Given the description of an element on the screen output the (x, y) to click on. 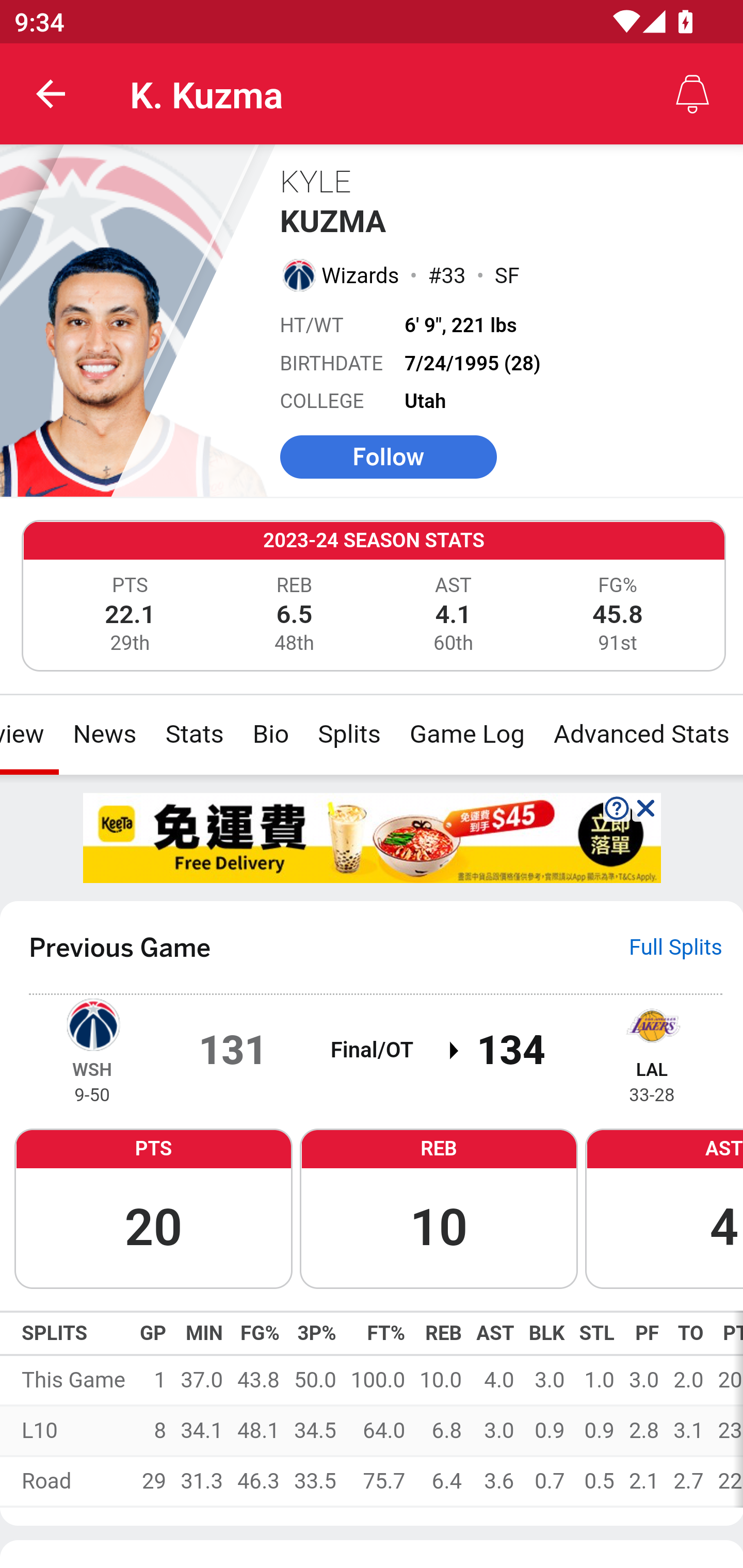
back.button (50, 93)
Alerts (692, 93)
Washington Wizards (297, 274)
Wizards (361, 274)
Utah (426, 401)
Follow (387, 455)
Overview (29, 734)
News (104, 734)
Stats (193, 734)
Bio (270, 734)
Splits (349, 734)
Game Log (466, 734)
Advanced Stats (640, 734)
Full Splits (675, 946)
Washington Wizards (91, 1022)
Los Angeles Lakers (651, 1022)
PTS 20 REB 10 AST 4 (371, 1206)
PTS 20 (153, 1206)
REB 10 (438, 1206)
AST 4 (664, 1206)
